Given the description of an element on the screen output the (x, y) to click on. 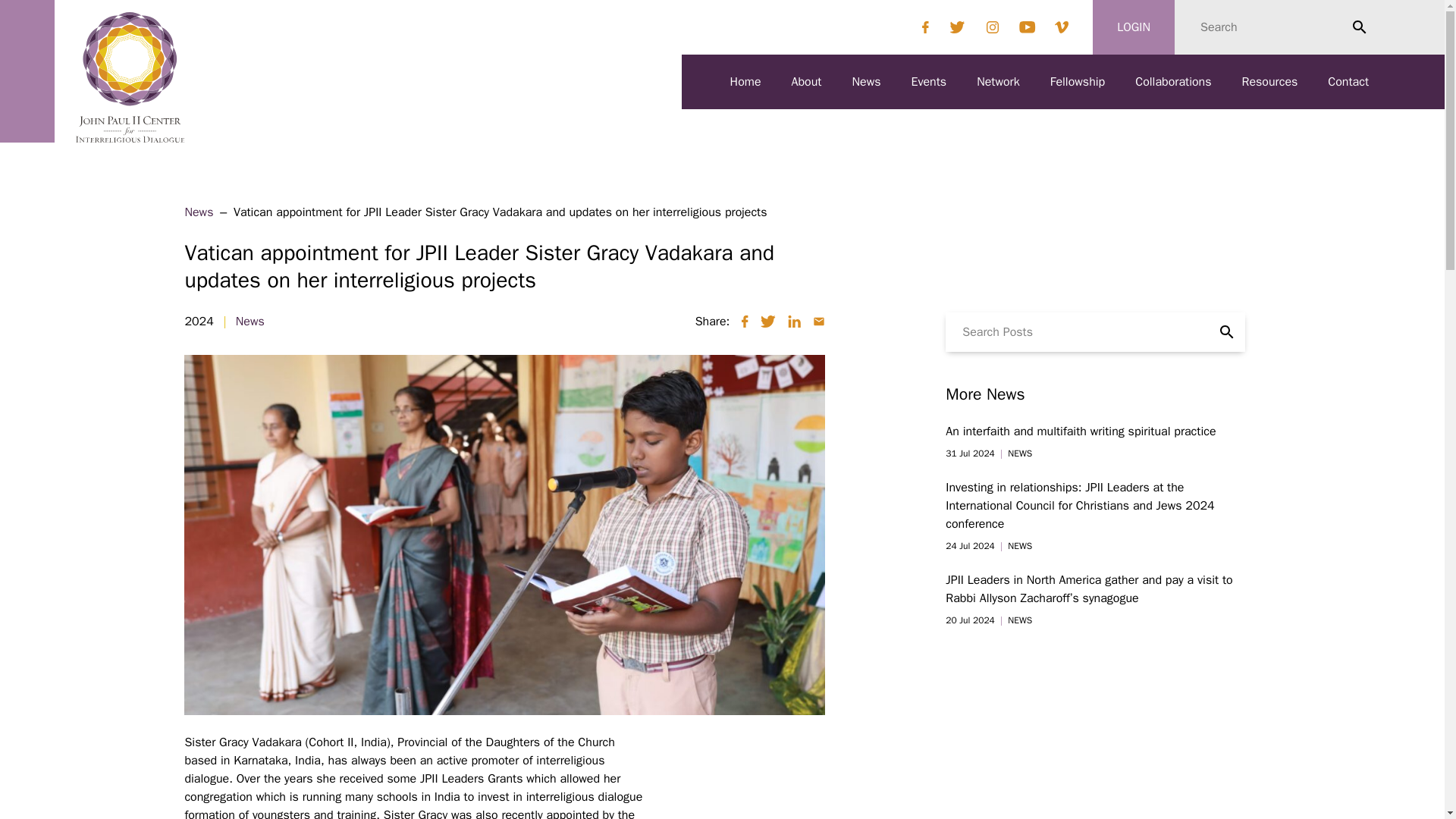
Network (998, 81)
Resources (1269, 81)
Contact (1347, 81)
Home (745, 81)
LOGIN (1133, 27)
News (865, 81)
Fellowship (1077, 81)
Events (928, 81)
Collaborations (1173, 81)
About (807, 81)
